Given the description of an element on the screen output the (x, y) to click on. 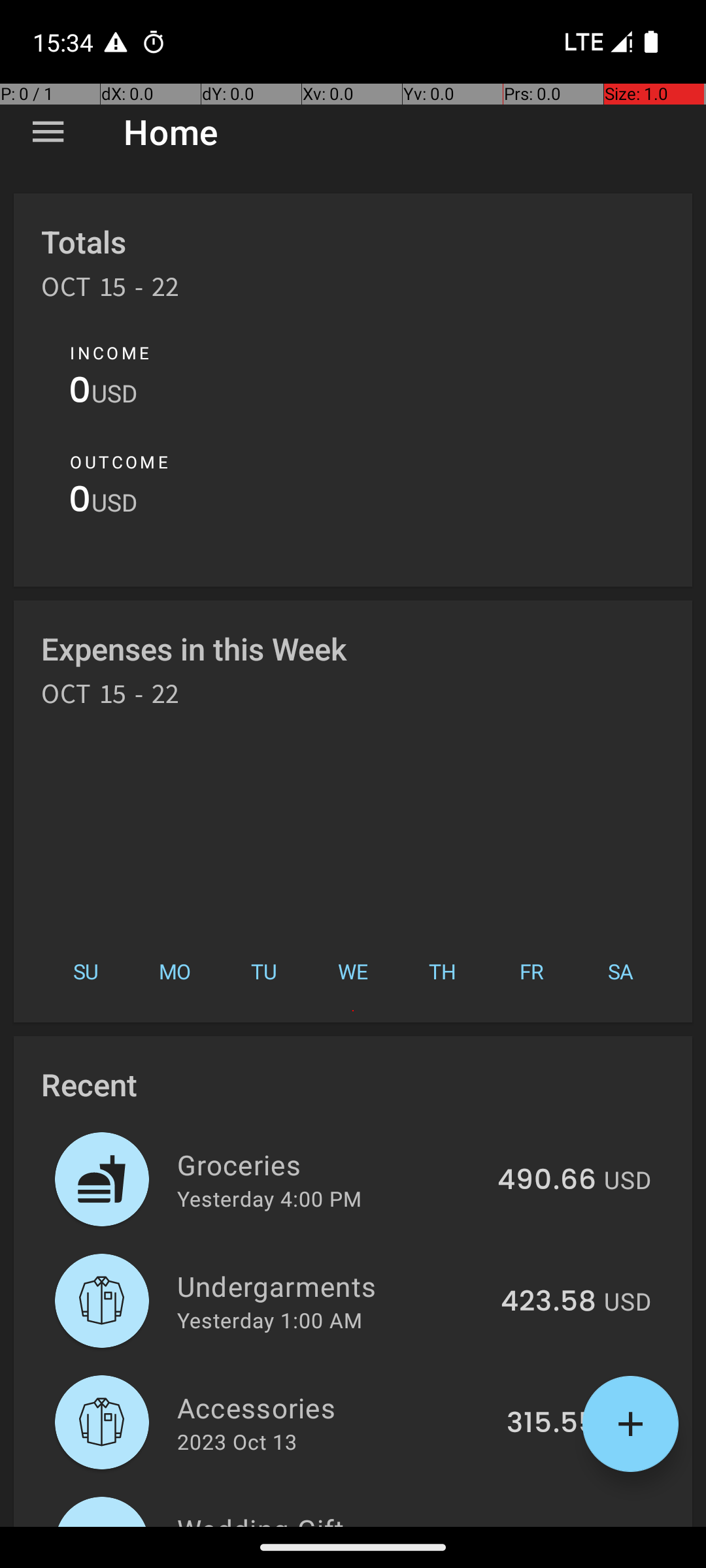
Groceries Element type: android.widget.TextView (329, 1164)
Yesterday 4:00 PM Element type: android.widget.TextView (269, 1198)
490.66 Element type: android.widget.TextView (546, 1180)
Undergarments Element type: android.widget.TextView (331, 1285)
Yesterday 1:00 AM Element type: android.widget.TextView (269, 1320)
423.58 Element type: android.widget.TextView (548, 1301)
Accessories Element type: android.widget.TextView (334, 1407)
315.55 Element type: android.widget.TextView (550, 1423)
Wedding Gift Element type: android.widget.TextView (338, 1518)
89.98 Element type: android.widget.TextView (555, 1524)
